Given the description of an element on the screen output the (x, y) to click on. 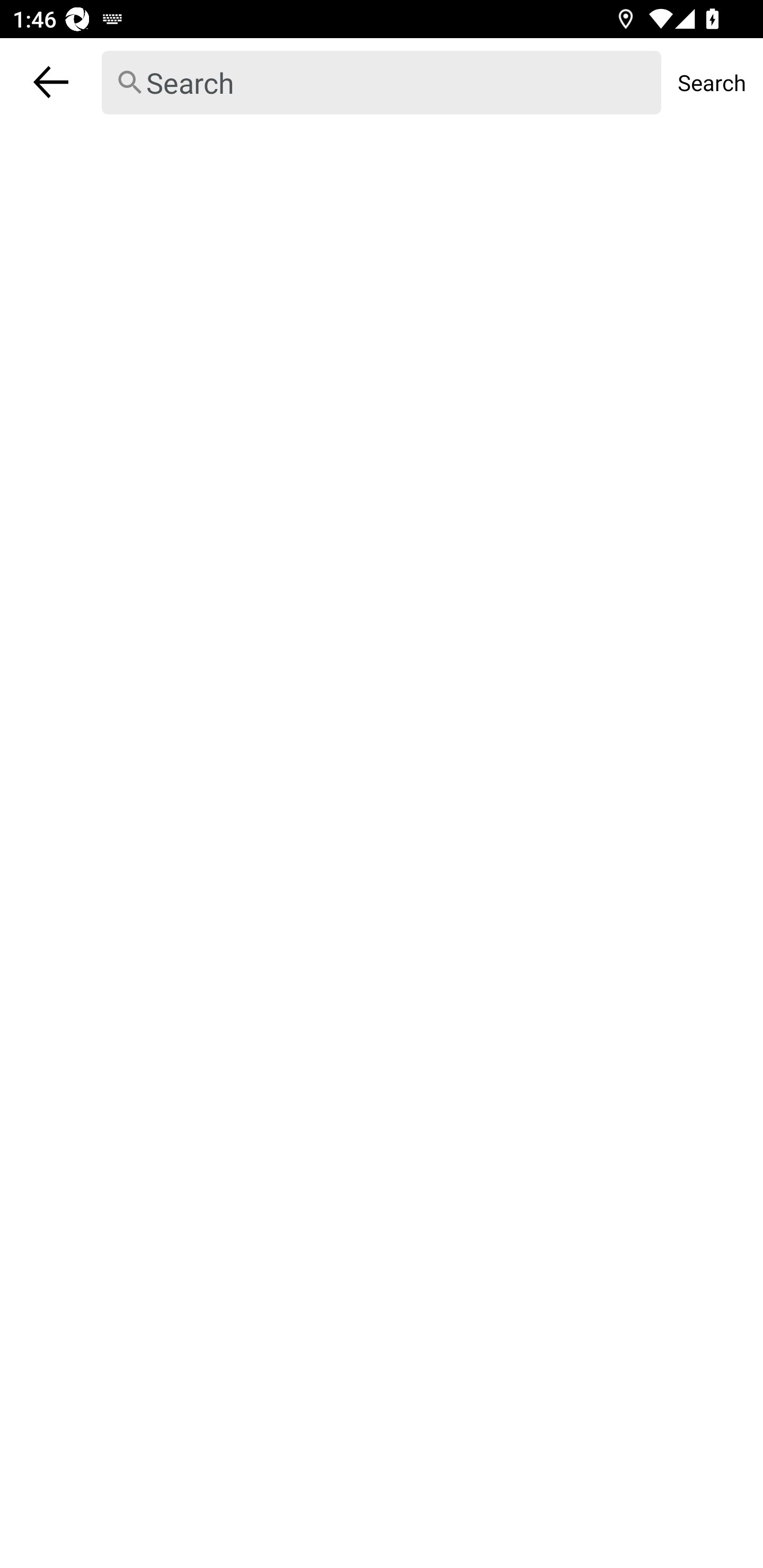
close (50, 81)
search Search (381, 82)
Search (381, 82)
Search (711, 82)
